Given the description of an element on the screen output the (x, y) to click on. 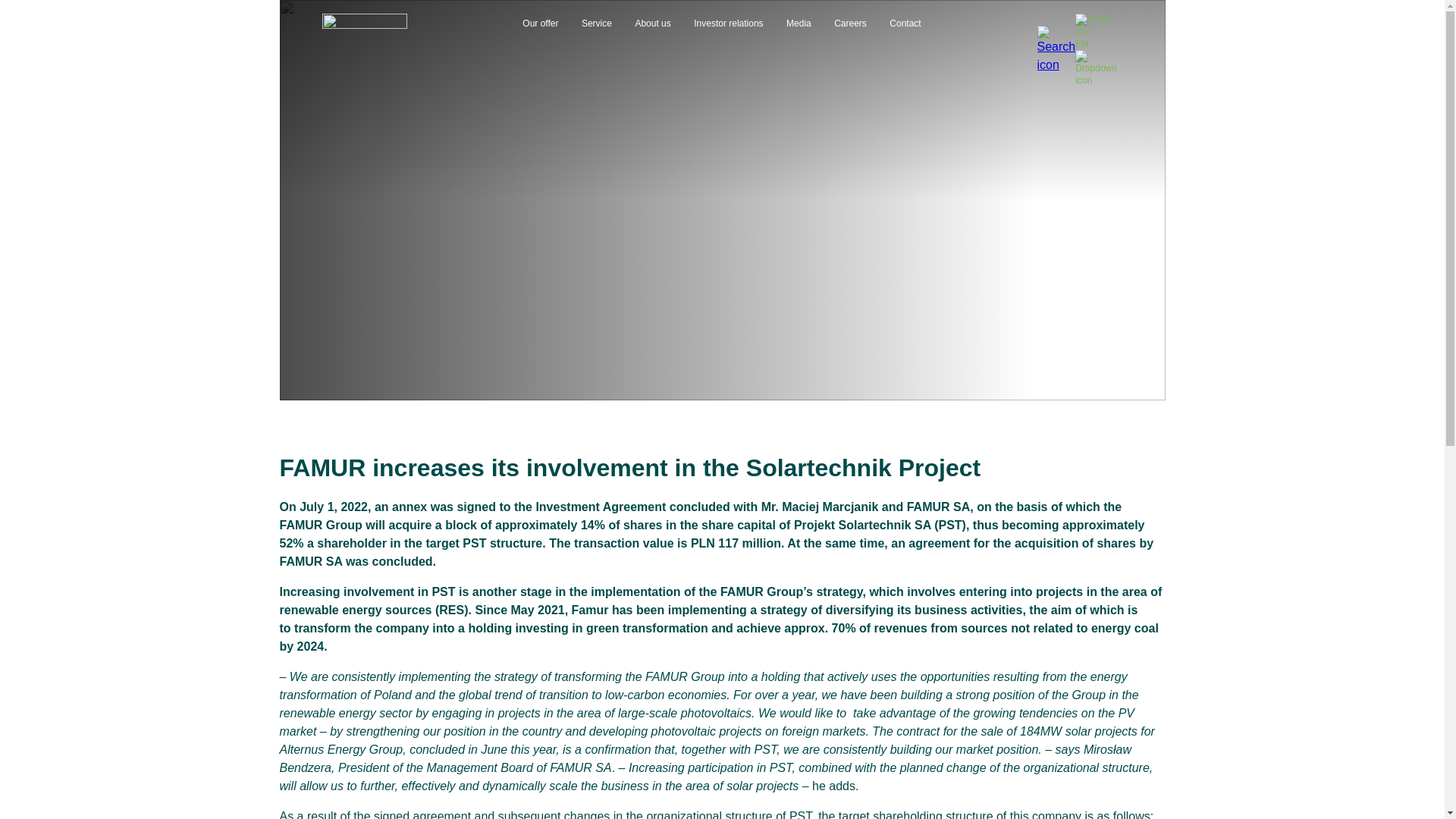
Investor relations (727, 23)
Media (798, 23)
Service (596, 23)
Contact (904, 23)
About us (651, 23)
Our offer (539, 23)
Careers (850, 23)
